Given the description of an element on the screen output the (x, y) to click on. 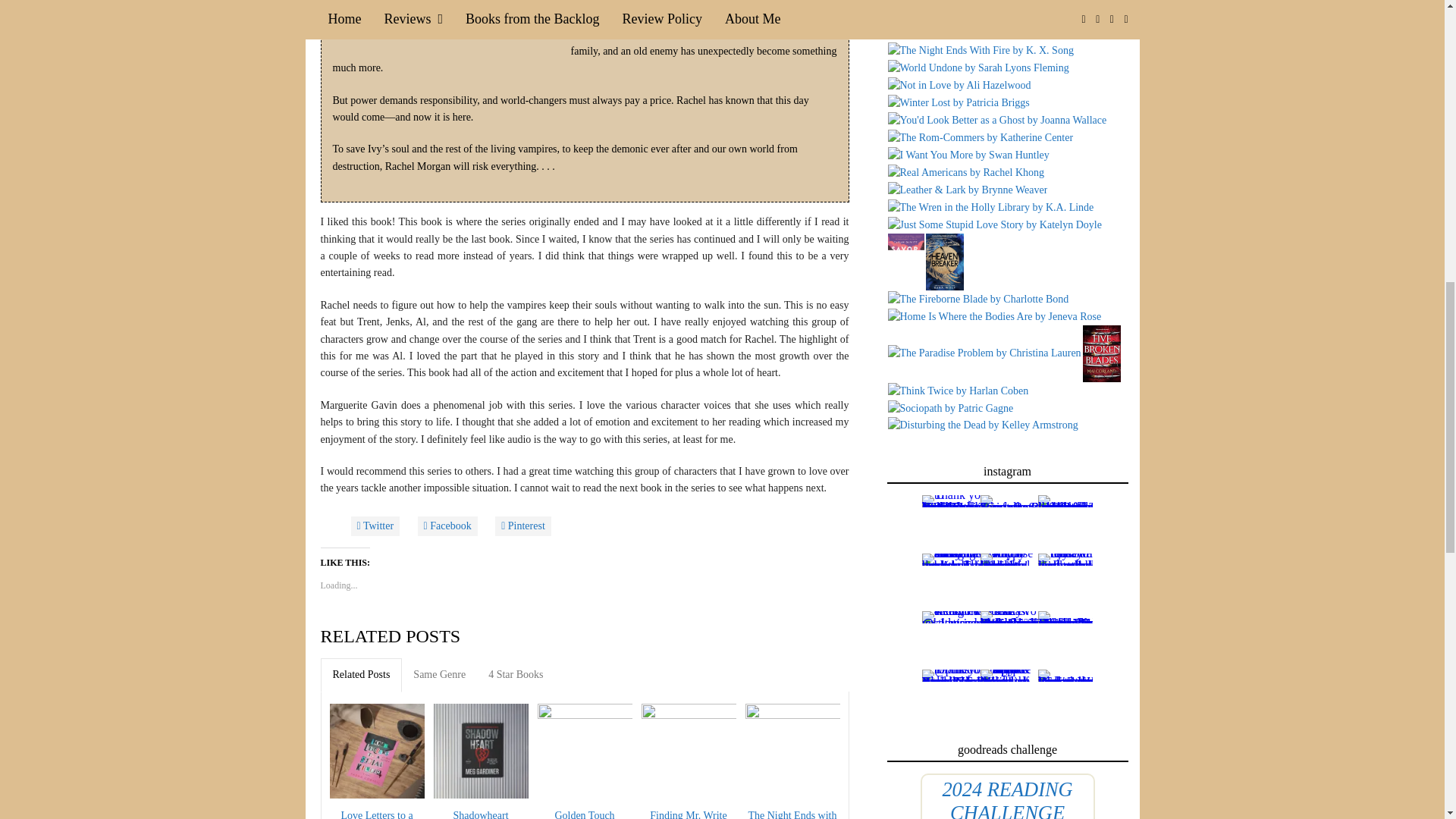
Facebook (447, 526)
Pinterest (523, 526)
Same Genre (439, 675)
Twitter (374, 526)
Related Posts (361, 675)
4 Star Books (515, 675)
